Given the description of an element on the screen output the (x, y) to click on. 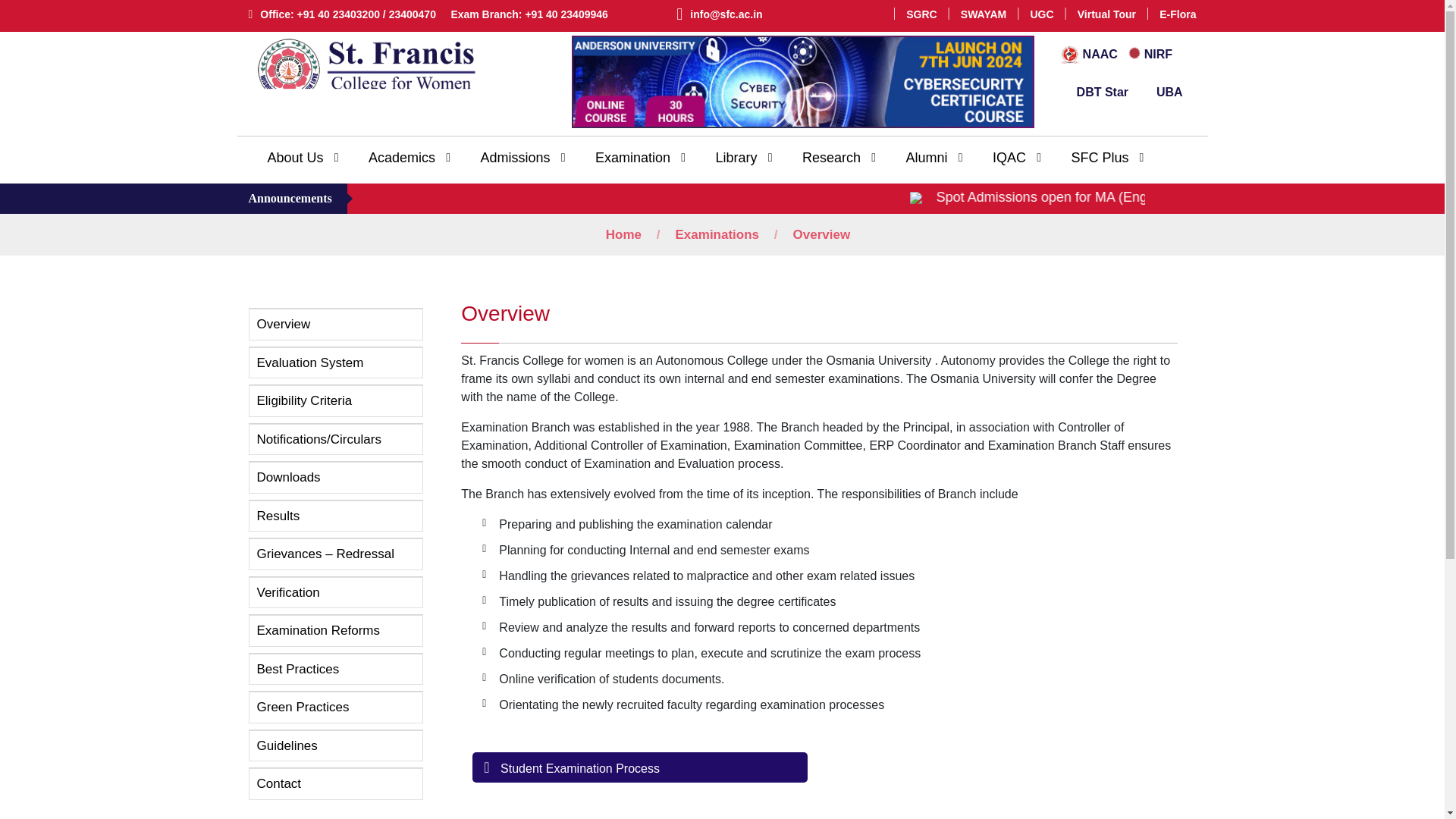
SWAYAM (983, 14)
E-Flora (1176, 14)
DBT Star (1096, 91)
SGRC (920, 14)
UBA (1161, 91)
NAAC (1091, 53)
NIRF (1150, 53)
About Us (297, 157)
Virtual Tour (1106, 14)
